Given the description of an element on the screen output the (x, y) to click on. 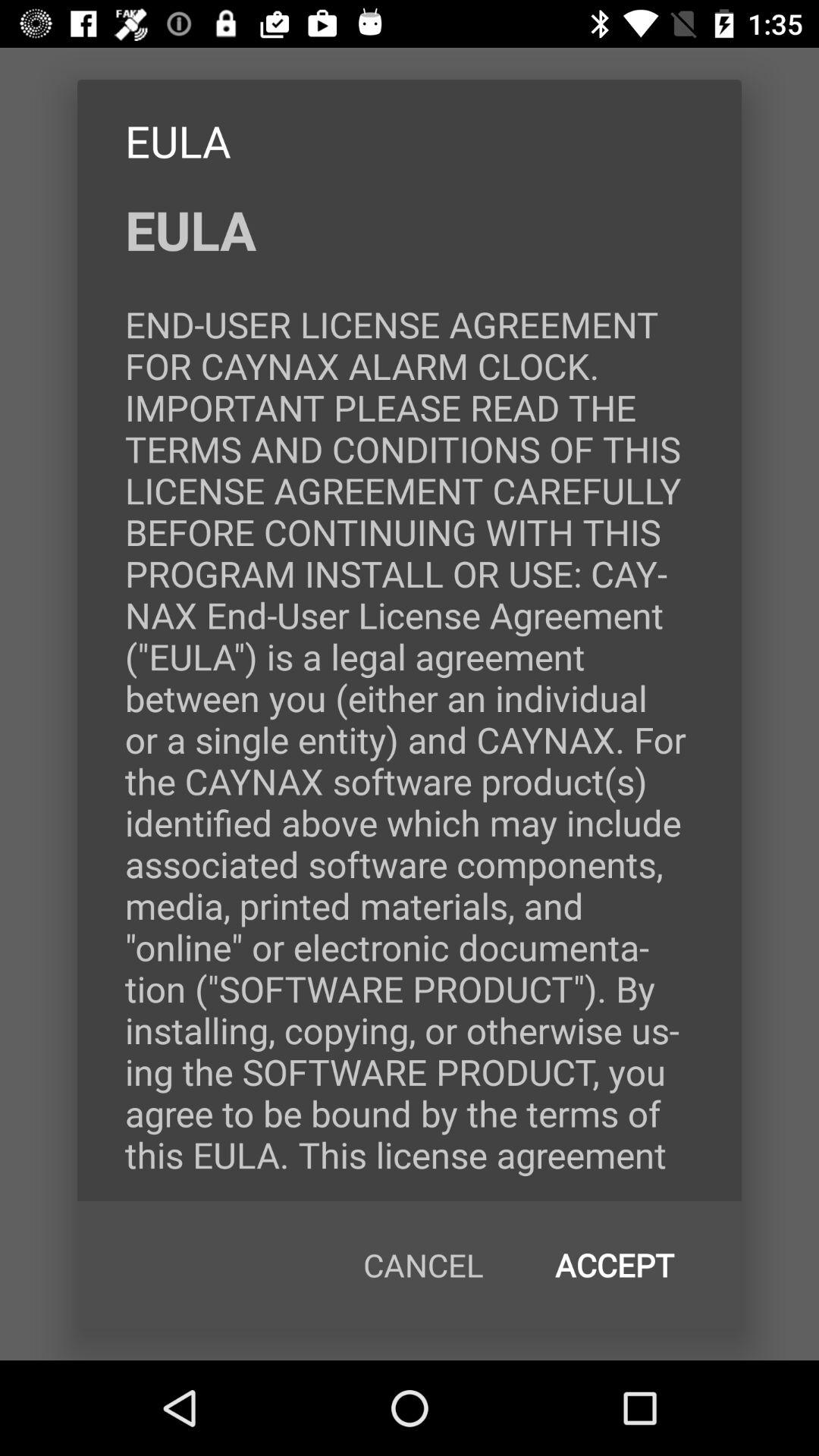
choose the item next to the accept (422, 1264)
